Given the description of an element on the screen output the (x, y) to click on. 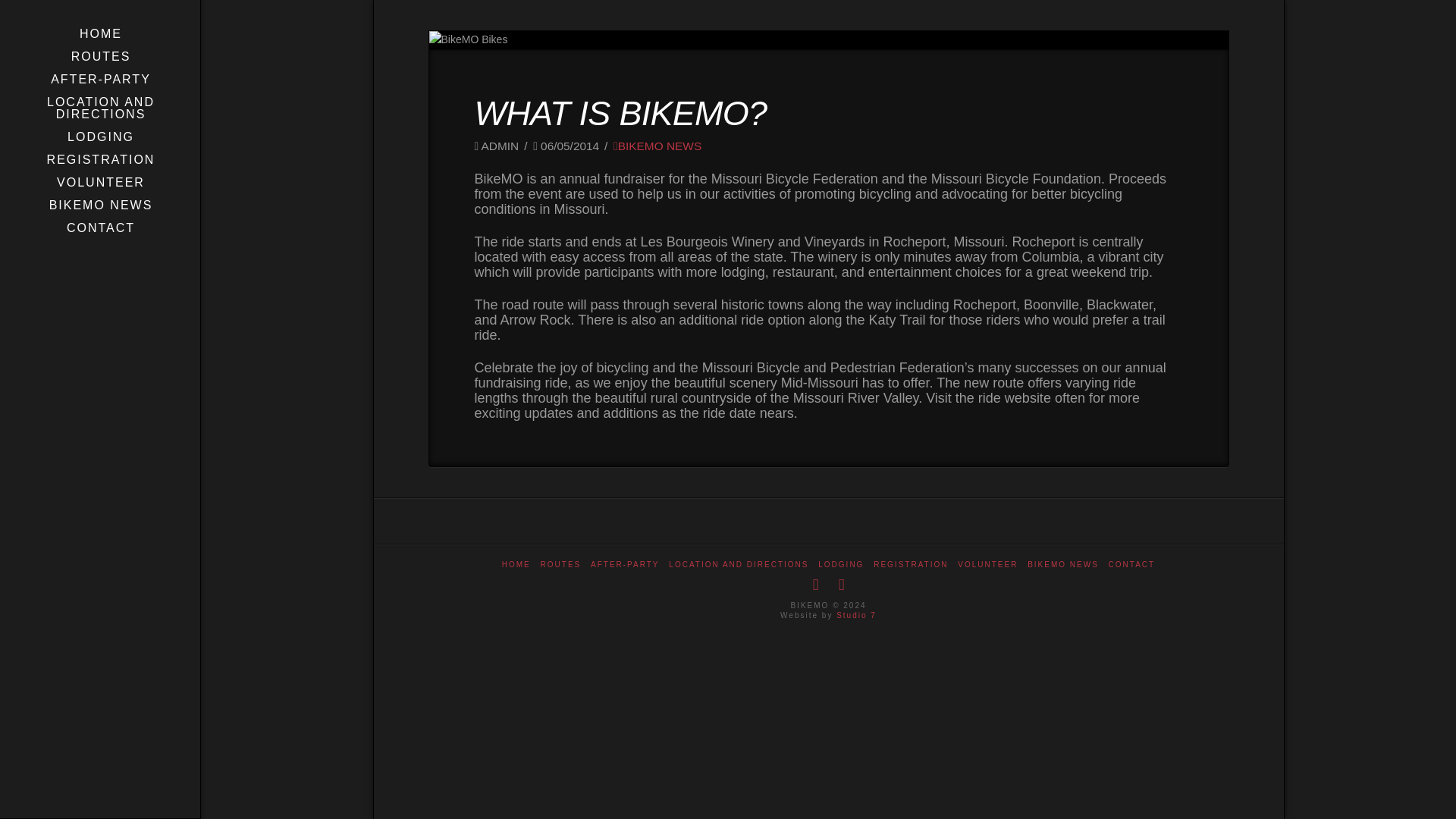
HOME (100, 33)
LODGING (100, 137)
CONTACT (1132, 564)
BikeMO News (100, 205)
Studio 7 (855, 614)
BikeMO Home (100, 33)
BIKEMO NEWS (1063, 564)
BIKEMO NEWS (656, 145)
BIKEMO NEWS (100, 205)
BikeMO Registration (100, 159)
